Given the description of an element on the screen output the (x, y) to click on. 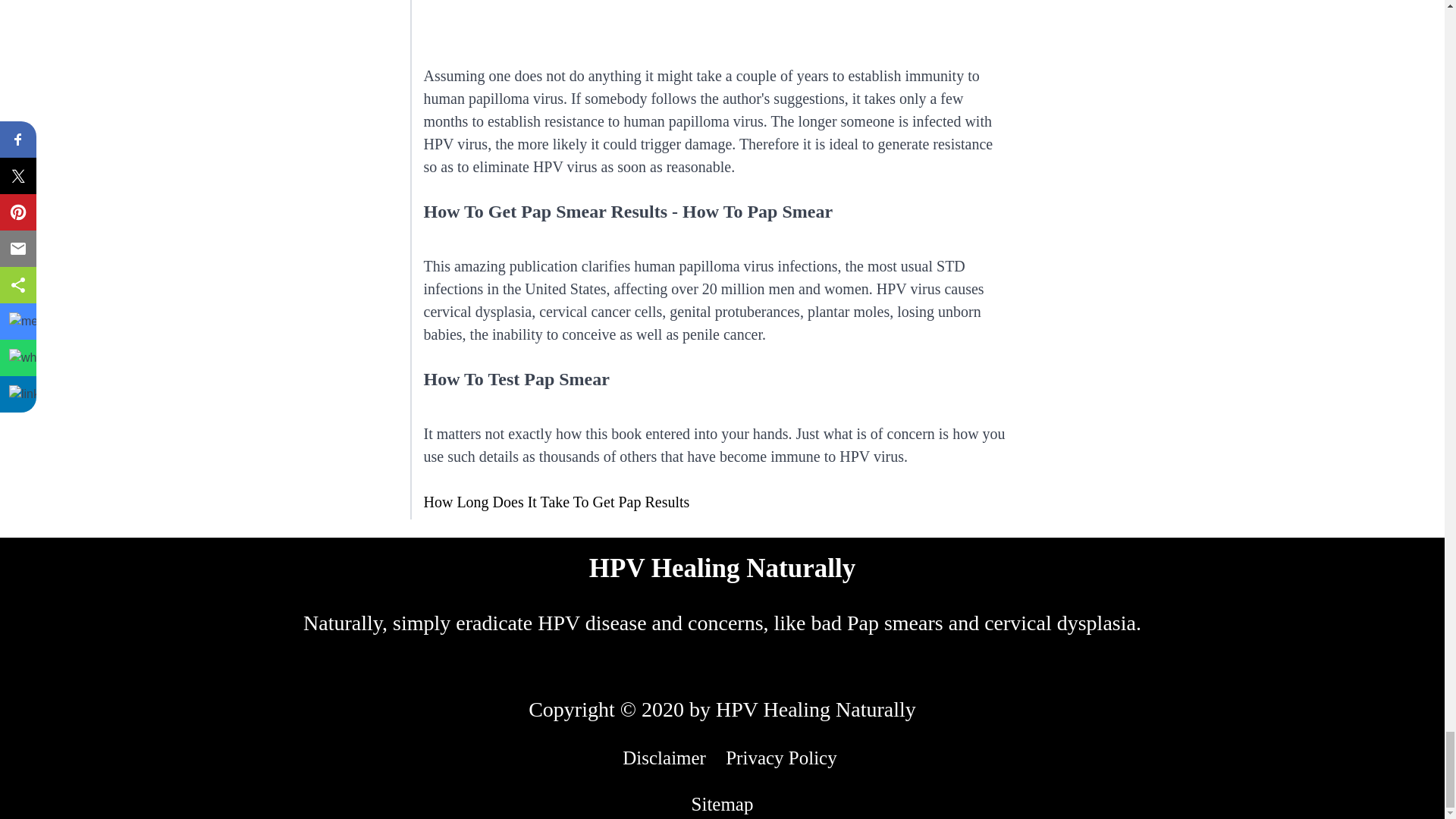
HPV Healing Naturally (722, 568)
Privacy Policy (781, 757)
Disclaimer (664, 757)
How Long Does It Take To Get Pap Results (555, 501)
Sitemap (722, 803)
